Given the description of an element on the screen output the (x, y) to click on. 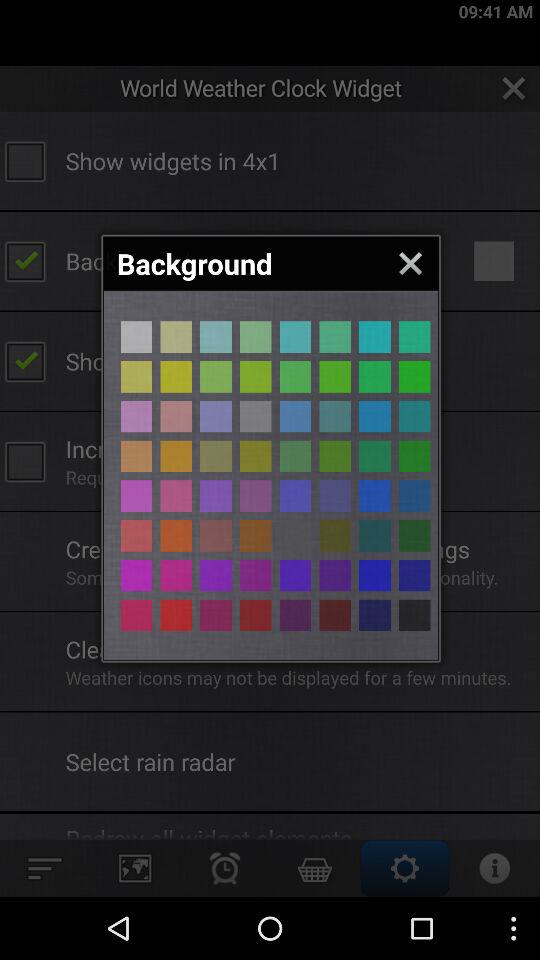
orange colour (176, 615)
